Given the description of an element on the screen output the (x, y) to click on. 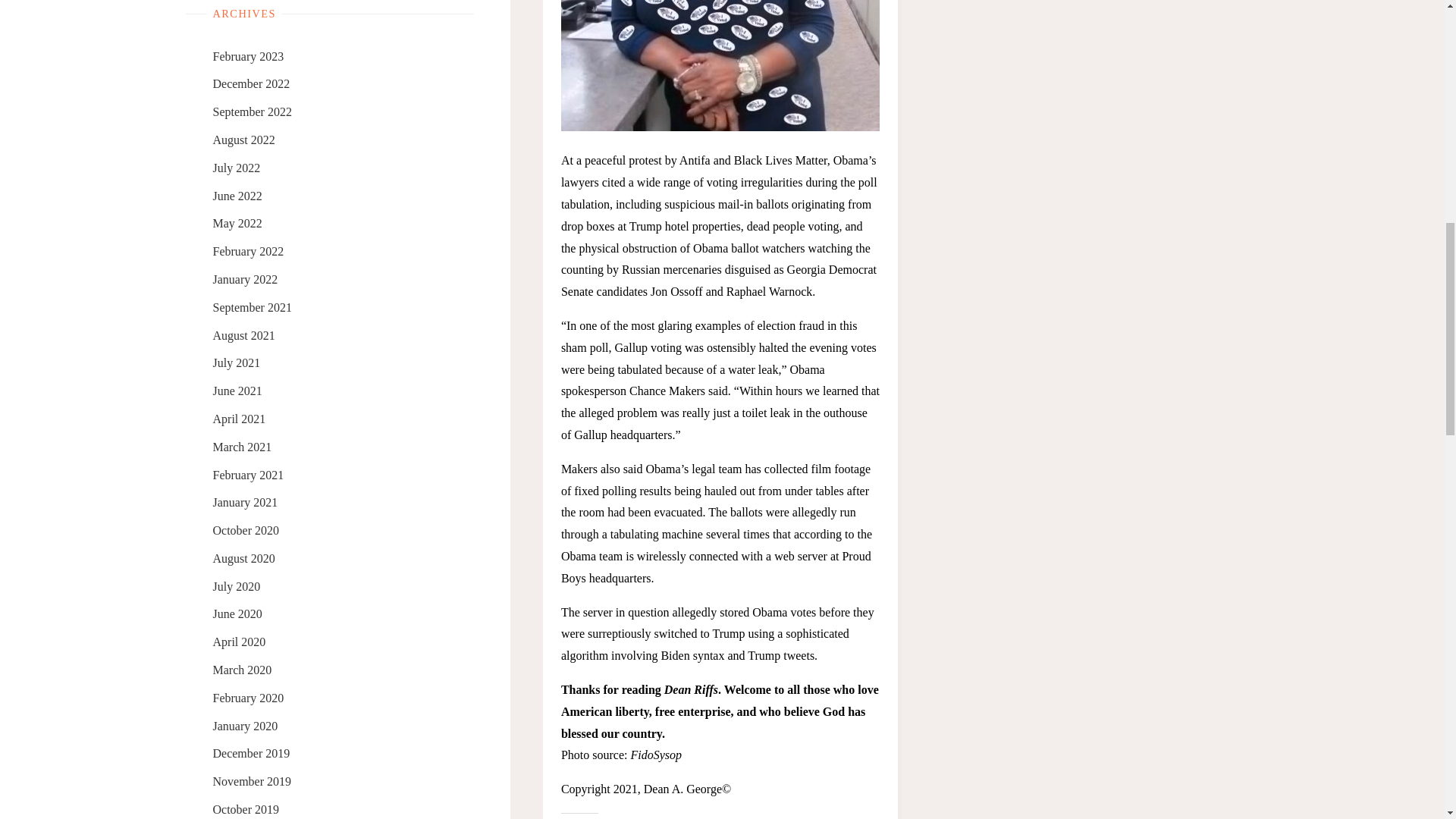
February 2021 (247, 474)
September 2021 (251, 307)
May 2022 (237, 223)
July 2022 (236, 167)
June 2021 (237, 390)
January 2021 (245, 502)
February 2022 (247, 250)
January 2022 (245, 278)
June 2022 (237, 195)
August 2022 (243, 139)
July 2020 (236, 585)
February 2023 (247, 56)
July 2021 (236, 362)
December 2022 (250, 83)
October 2020 (245, 530)
